Given the description of an element on the screen output the (x, y) to click on. 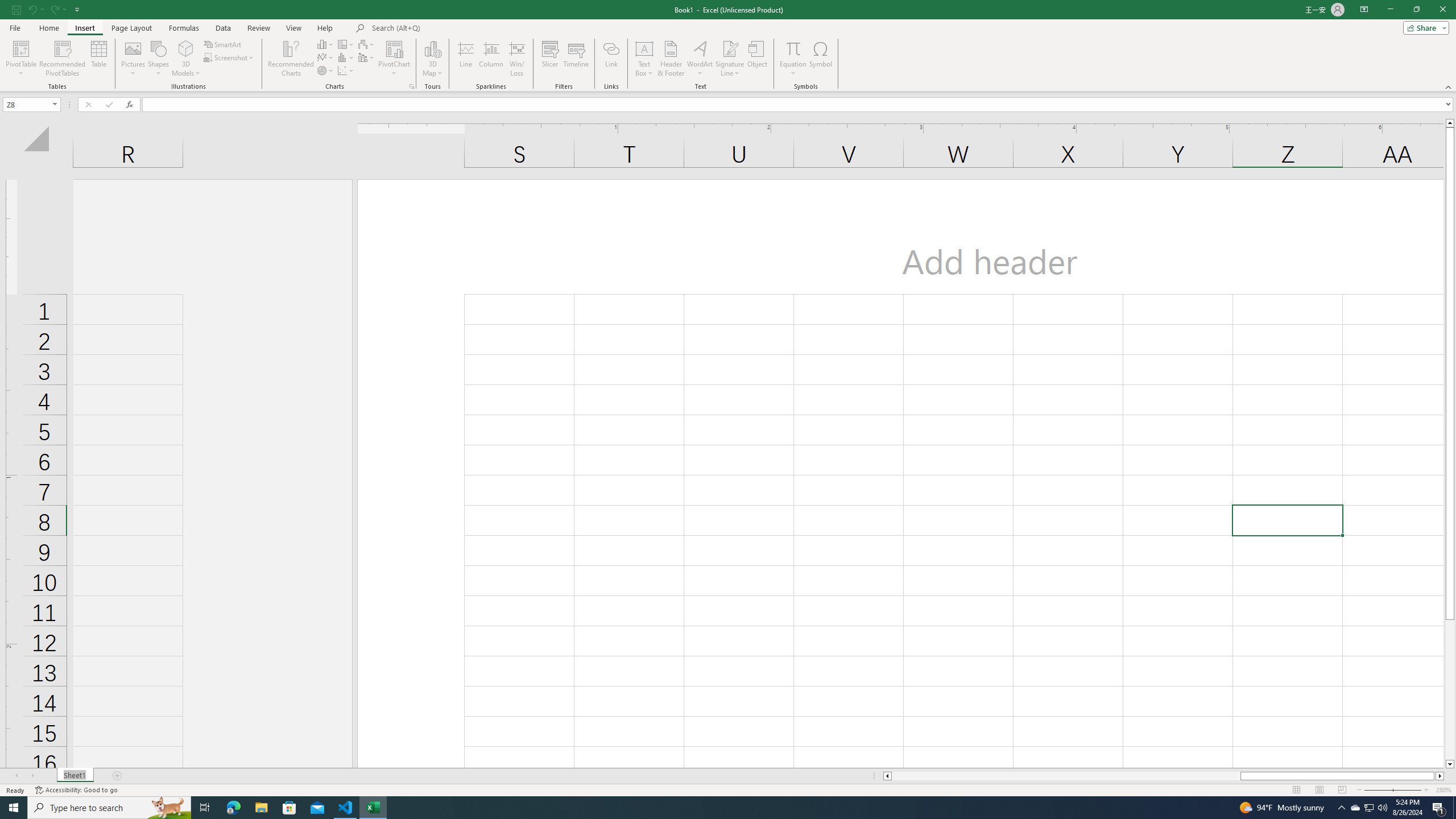
Object... (757, 58)
Draw Horizontal Text Box (643, 48)
Insert Scatter (X, Y) or Bubble Chart (346, 69)
Screenshot (229, 56)
Equation (793, 58)
3D Map (432, 58)
PivotChart (394, 48)
